Given the description of an element on the screen output the (x, y) to click on. 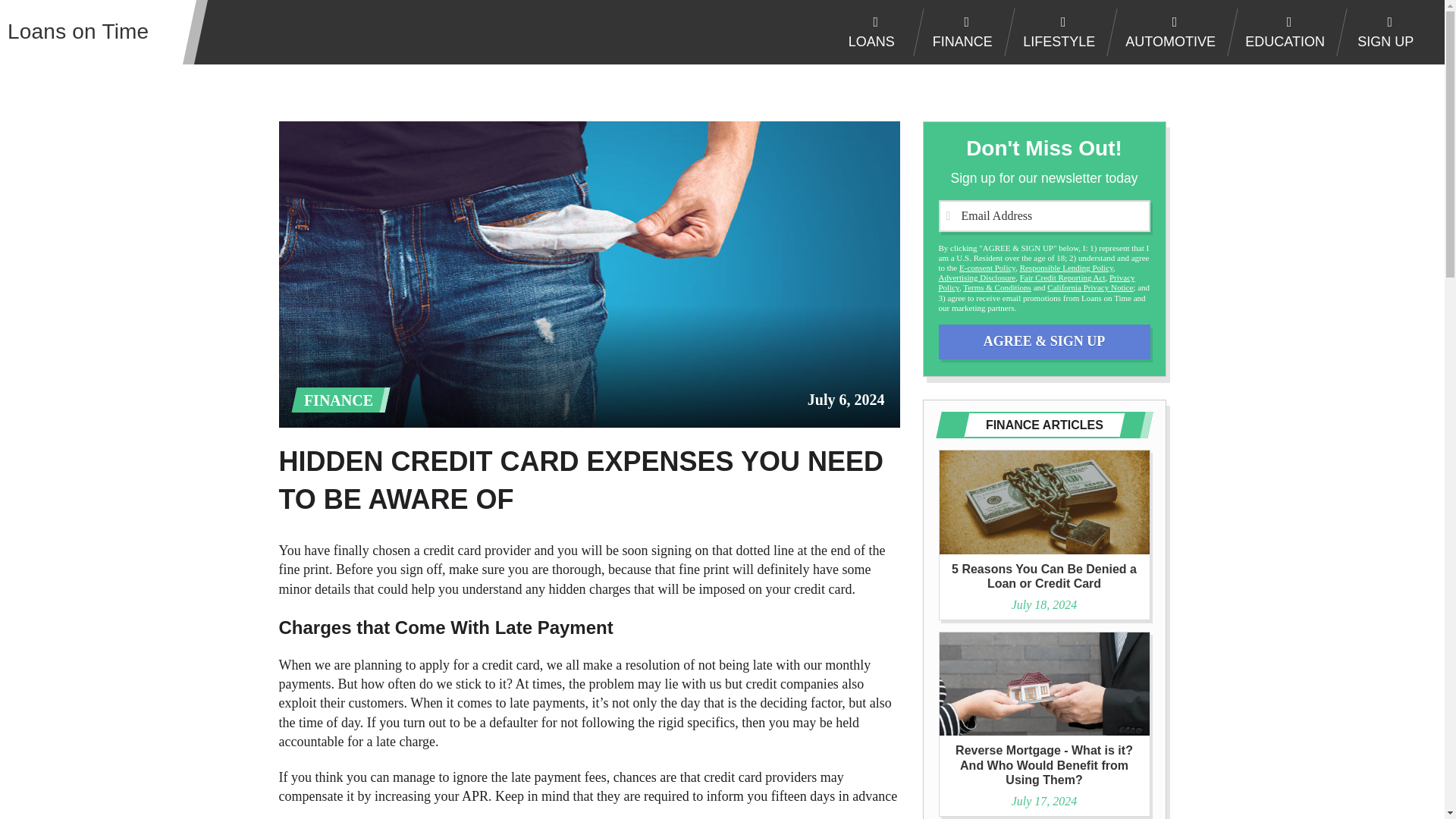
Education (1280, 32)
Automotive (1165, 32)
Responsible Lending Policy (1066, 266)
Advertising Disclosure (977, 276)
Loans (866, 32)
Lifestyle (1054, 32)
LOANS (866, 32)
California Privacy Notice (1089, 286)
Loans on Time (82, 31)
Privacy Policy (1037, 281)
EDUCATION (1280, 32)
FINANCE (957, 32)
Finance (957, 32)
AUTOMOTIVE (1165, 32)
LIFESTYLE (1054, 32)
